Given the description of an element on the screen output the (x, y) to click on. 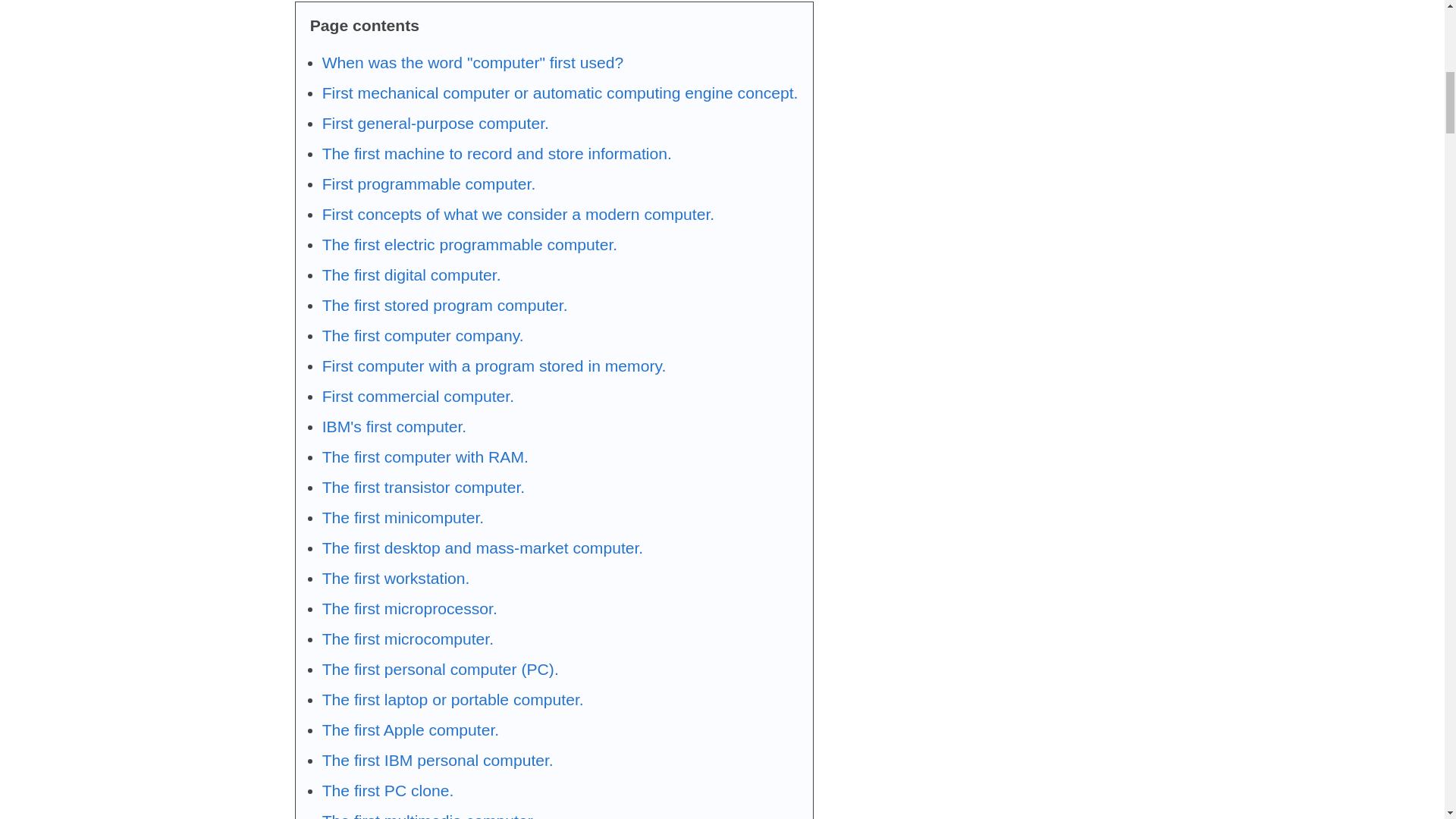
The first electric programmable computer. (469, 244)
The first minicomputer. (402, 517)
First general-purpose computer. (434, 122)
First computer with a program stored in memory. (493, 365)
The first computer company. (422, 334)
The first desktop and mass-market computer. (482, 547)
The first computer with RAM. (424, 456)
IBM's first computer. (394, 425)
When was the word "computer" first used? (472, 62)
